Given the description of an element on the screen output the (x, y) to click on. 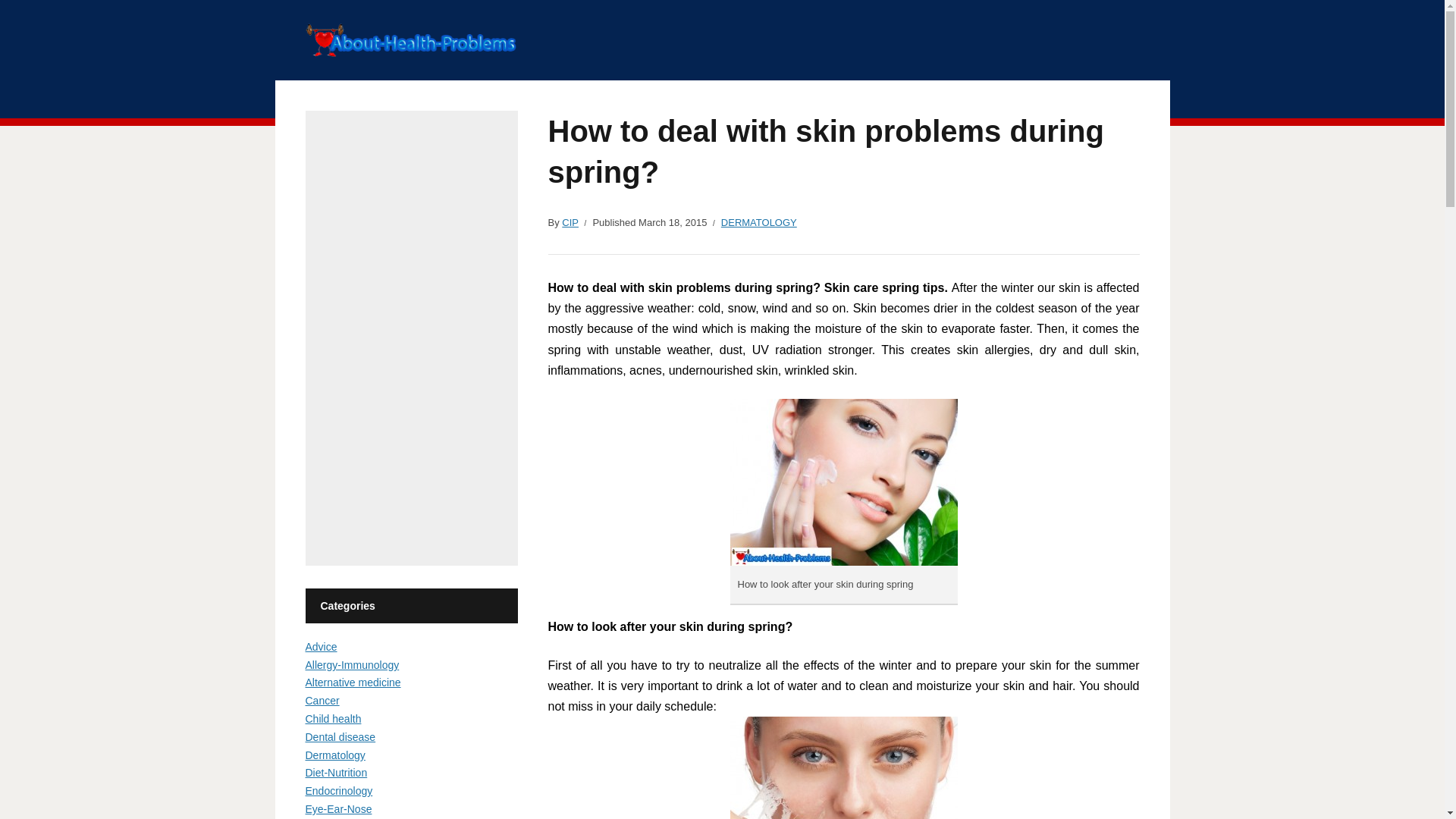
Diet-Nutrition (335, 772)
CIP (570, 222)
DERMATOLOGY (758, 222)
Posts by cip (570, 222)
Cancer (321, 700)
Endocrinology (338, 790)
Dermatology (334, 755)
Allergy-Immunology (351, 664)
Alternative medicine (352, 682)
Dental disease (339, 736)
